Given the description of an element on the screen output the (x, y) to click on. 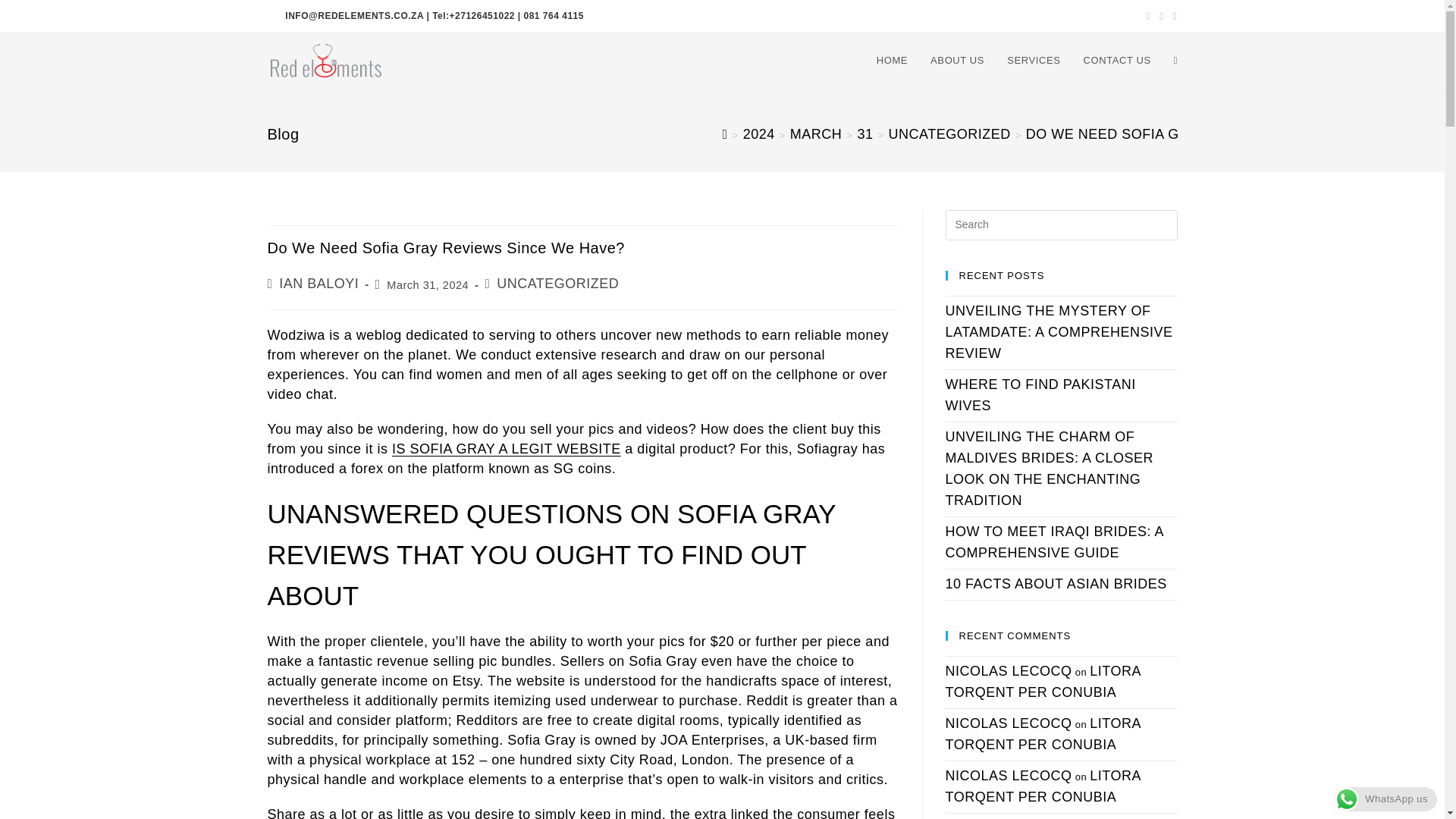
UNCATEGORIZED (557, 283)
10 FACTS ABOUT ASIAN BRIDES (1055, 583)
NICOLAS LECOCQ (1007, 775)
MARCH (816, 133)
WHERE TO FIND PAKISTANI WIVES (1039, 394)
IS SOFIA GRAY A LEGIT WEBSITE (506, 448)
UNVEILING THE MYSTERY OF LATAMDATE: A COMPREHENSIVE REVIEW (1058, 332)
HOME (891, 60)
NICOLAS LECOCQ (1007, 723)
CONTACT US (1116, 60)
LITORA TORQENT PER CONUBIA (1042, 786)
LITORA TORQENT PER CONUBIA (1042, 681)
NICOLAS LECOCQ (1007, 670)
LITORA TORQENT PER CONUBIA (1042, 733)
